Given the description of an element on the screen output the (x, y) to click on. 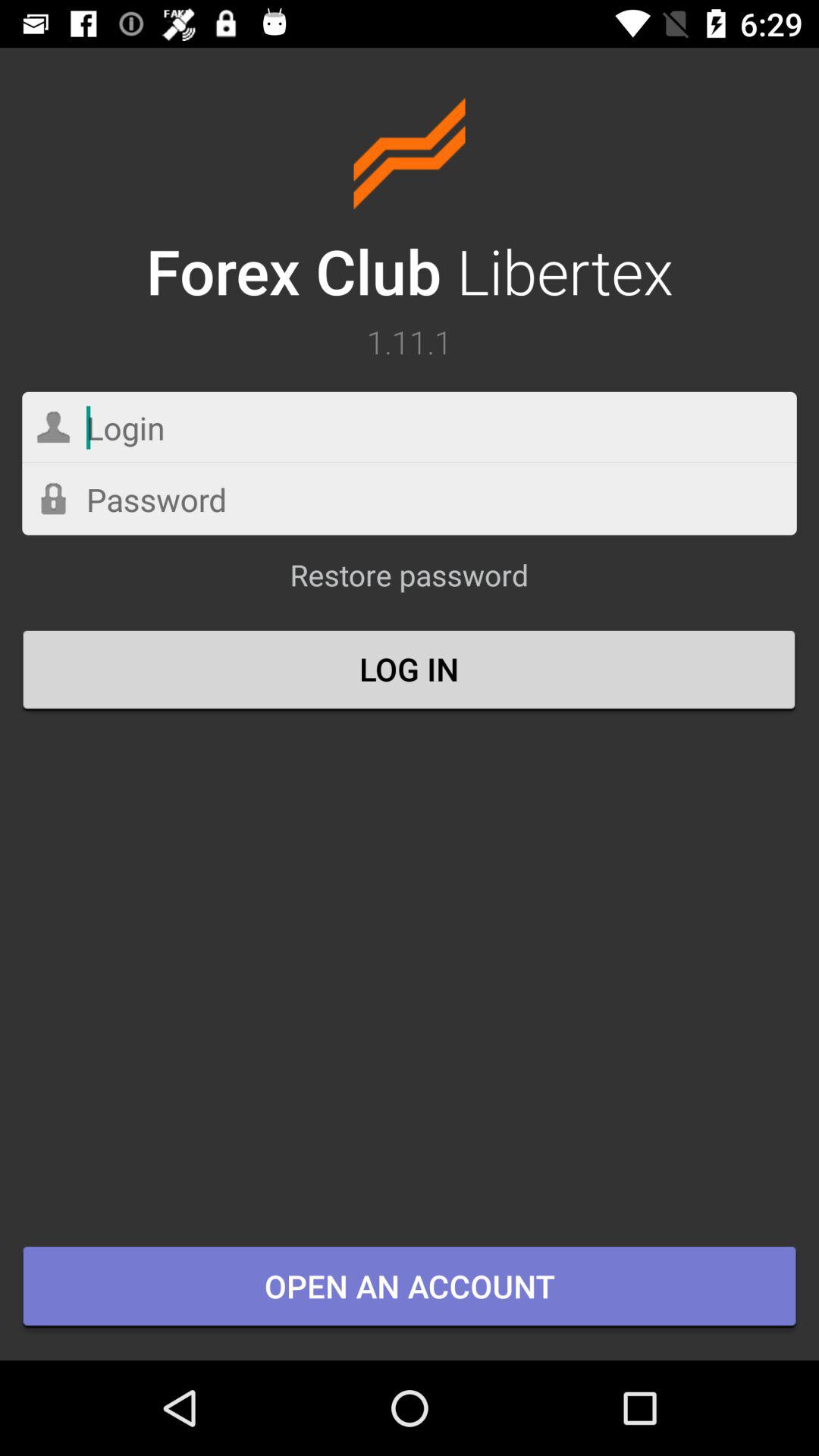
choose forex club libertex (409, 204)
